Given the description of an element on the screen output the (x, y) to click on. 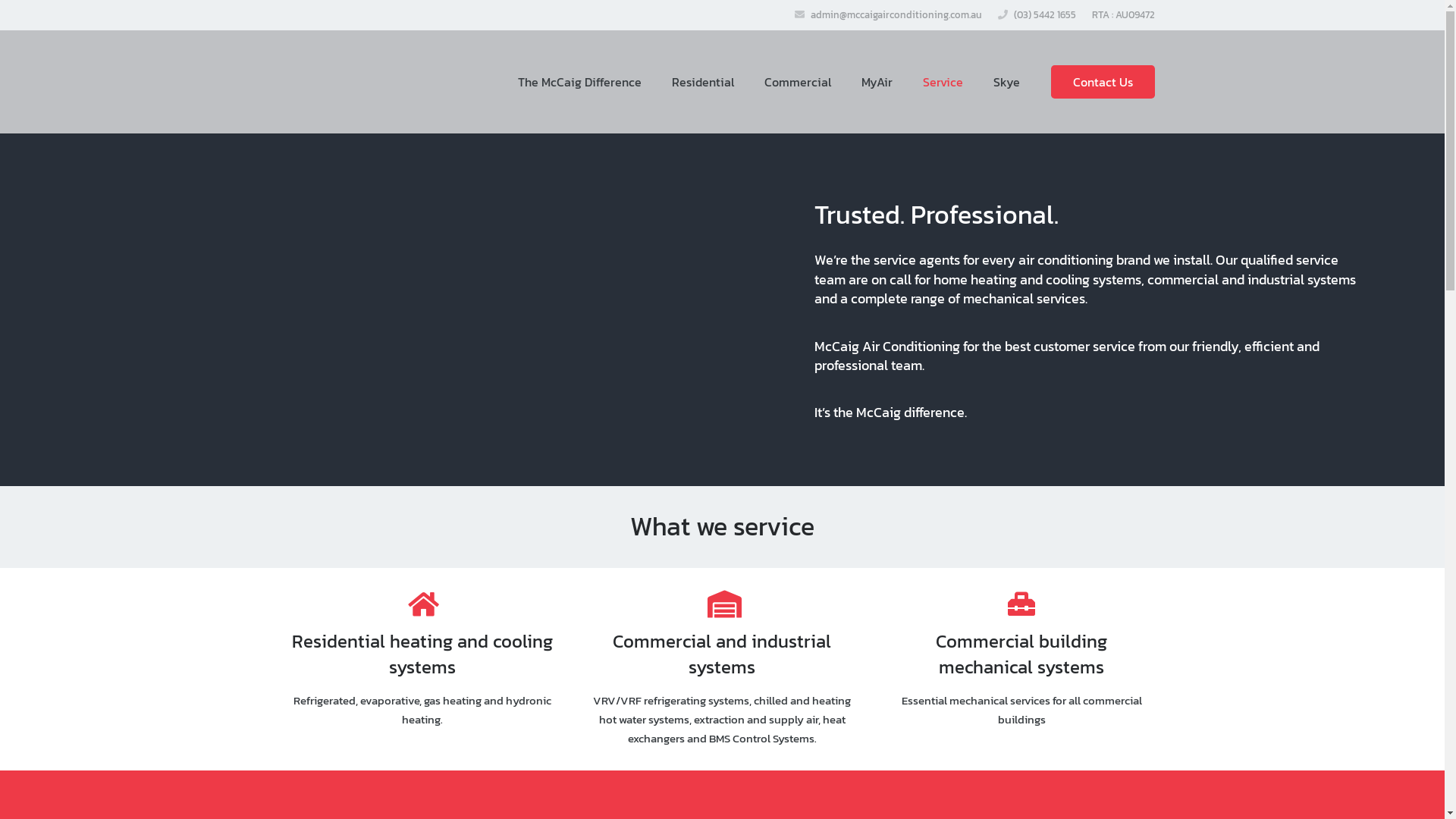
Service Element type: text (942, 81)
admin@mccaigairconditioning.com.au Element type: text (896, 14)
(03) 5442 1655 Element type: text (1044, 14)
Contact Us Element type: text (1102, 82)
Residential Element type: text (702, 81)
McCaig difference Element type: text (910, 411)
Skye Element type: text (1006, 81)
MyAir Element type: text (876, 81)
The McCaig Difference Element type: text (579, 81)
Commercial Element type: text (797, 81)
